Given the description of an element on the screen output the (x, y) to click on. 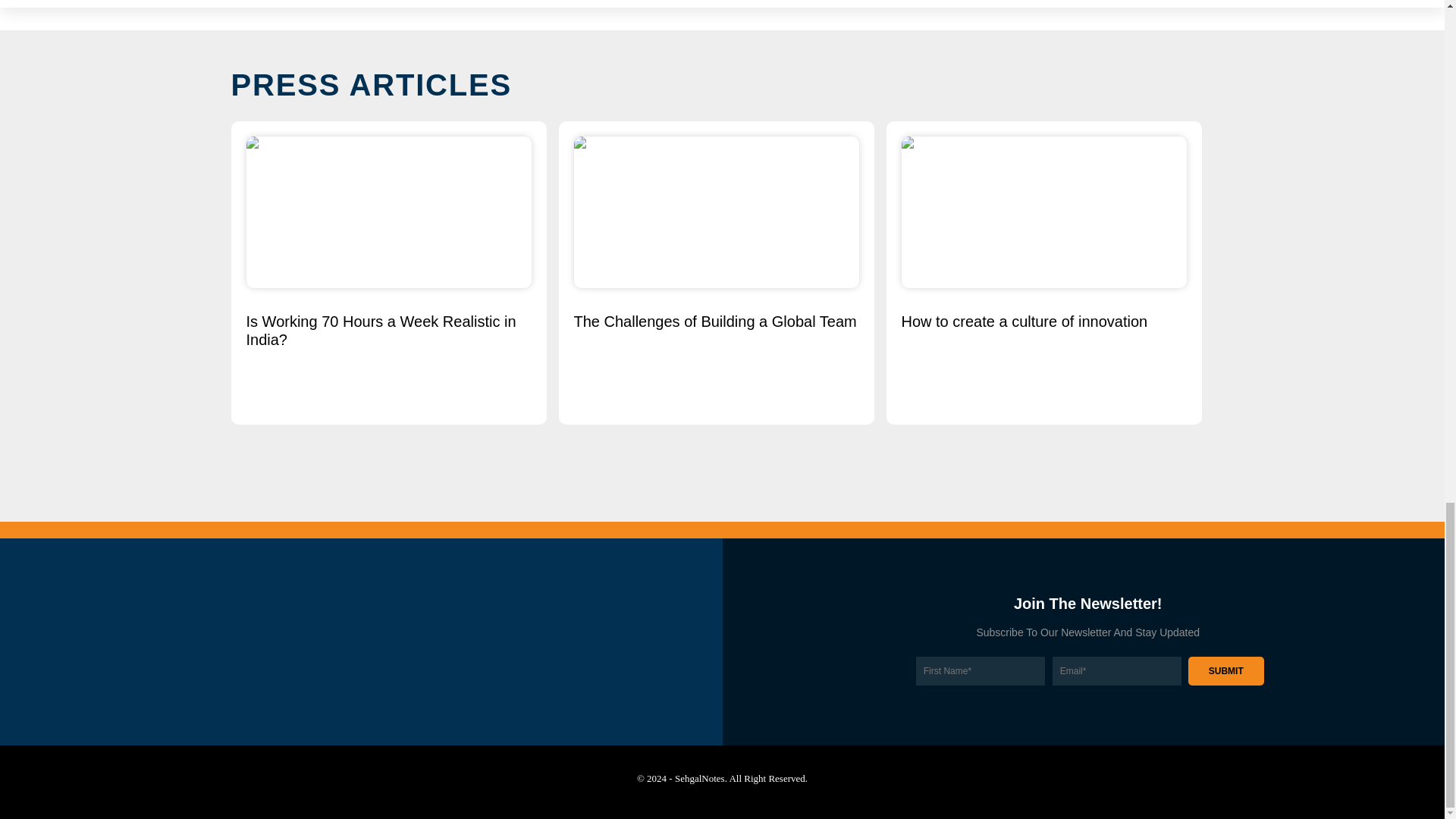
Previous (238, 284)
The Challenges of Building a Global Team (716, 321)
Is Working 70 Hours a Week Realistic in India? (388, 330)
How to create a culture of innovation (1043, 321)
